Given the description of an element on the screen output the (x, y) to click on. 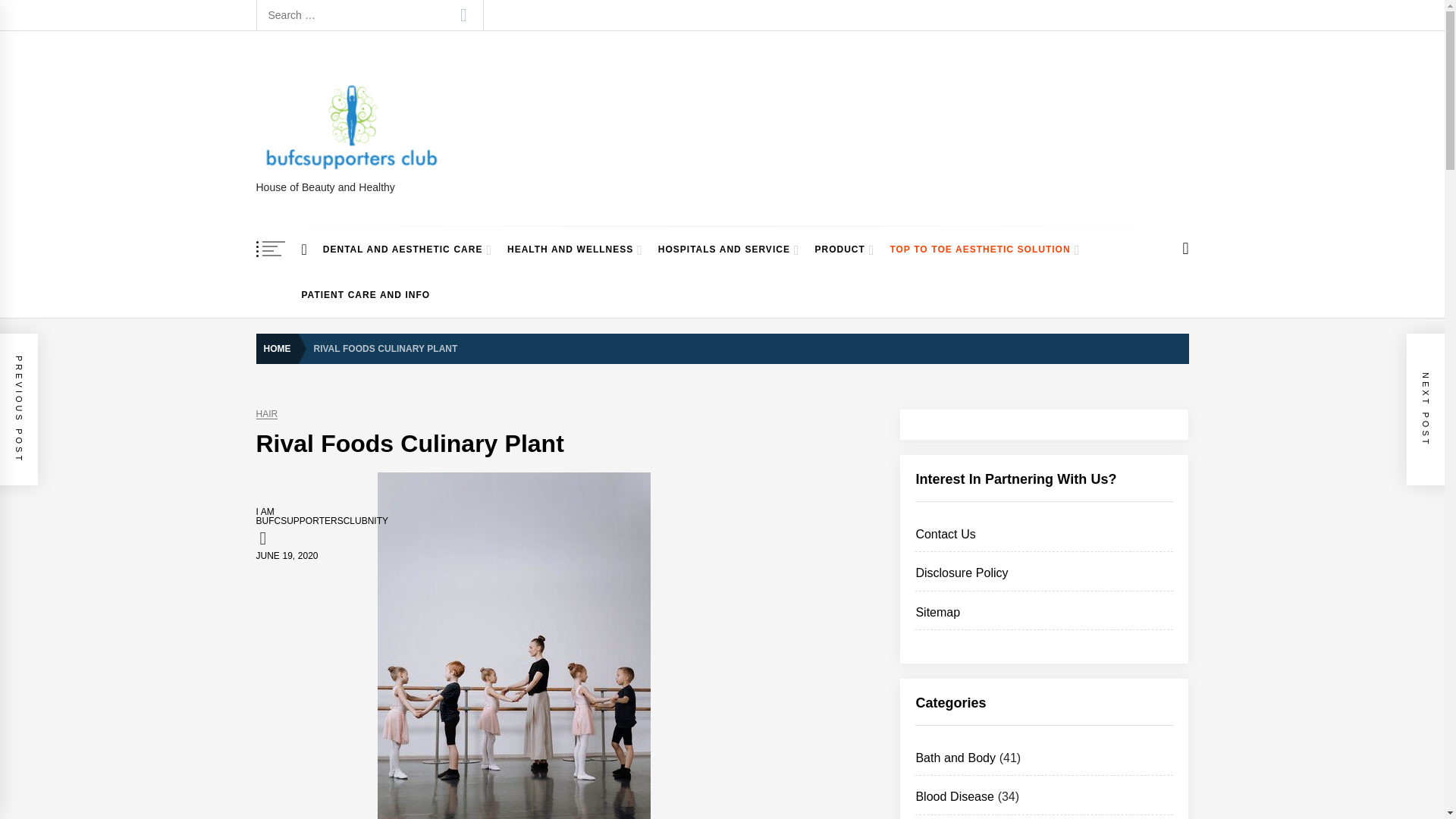
Search (462, 15)
HEALTH AND WELLNESS (574, 248)
DENTAL AND AESTHETIC CARE (407, 248)
HOSPITALS AND SERVICE (729, 248)
Search (462, 15)
PRODUCT (844, 248)
Search (462, 15)
